Given the description of an element on the screen output the (x, y) to click on. 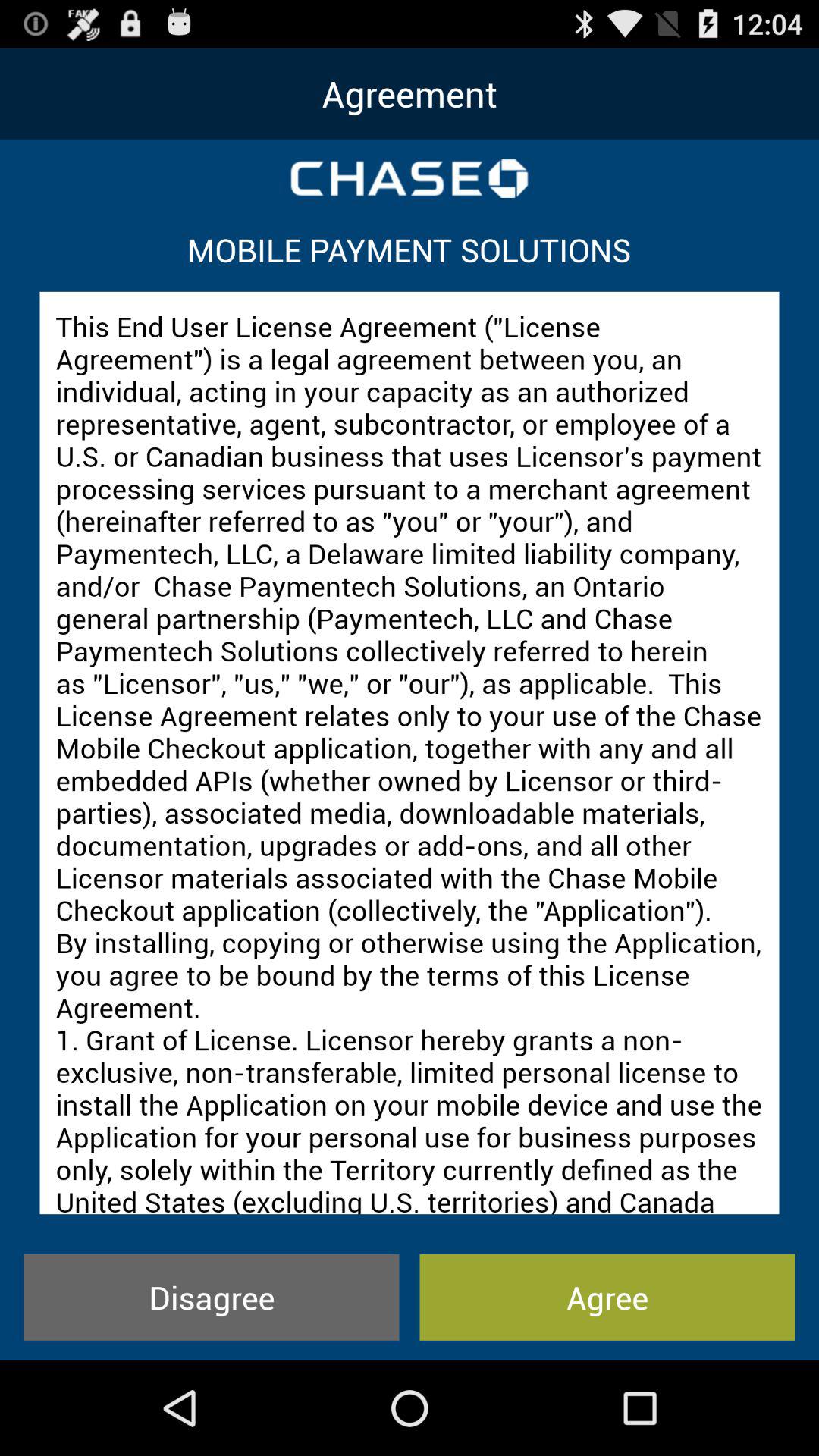
launch item below the this end user icon (211, 1297)
